Given the description of an element on the screen output the (x, y) to click on. 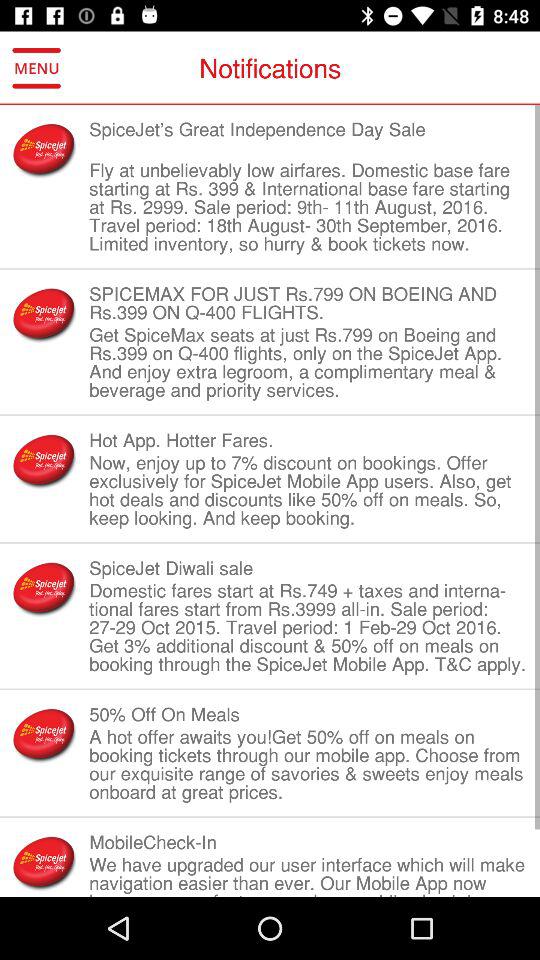
launch the spicejet s great (307, 138)
